Given the description of an element on the screen output the (x, y) to click on. 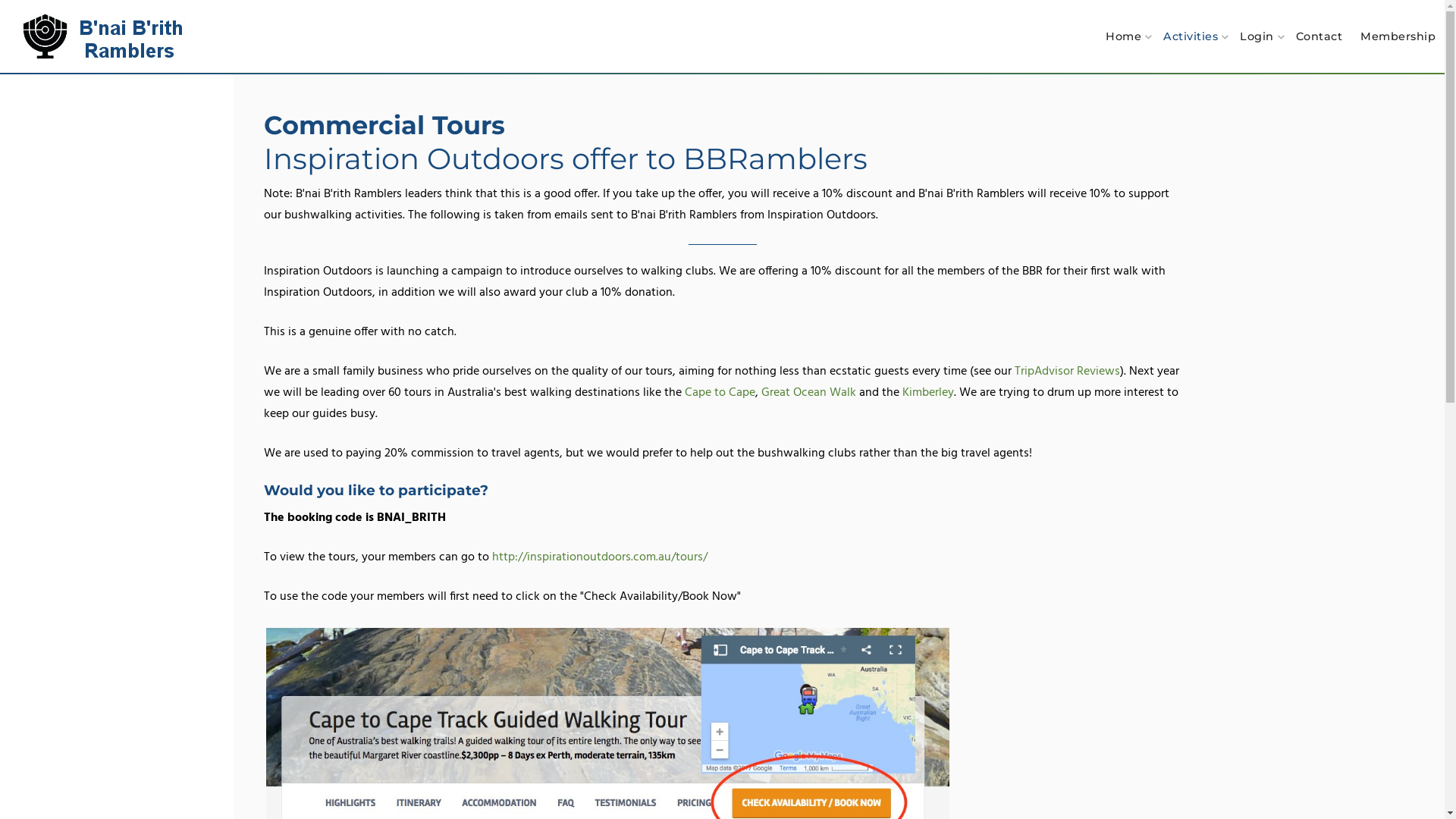
Activities Element type: text (1192, 36)
B'nai B'rith Ramblers Element type: hover (107, 36)
Home Element type: text (1125, 36)
http://inspirationoutdoors.com.au/tours/ Element type: text (598, 557)
Contact Element type: text (1318, 36)
Great Ocean Walk Element type: text (808, 392)
Cape to Cape Element type: text (719, 392)
TripAdvisor Reviews Element type: text (1067, 371)
Kimberley Element type: text (927, 392)
Membership Element type: text (1397, 36)
